Given the description of an element on the screen output the (x, y) to click on. 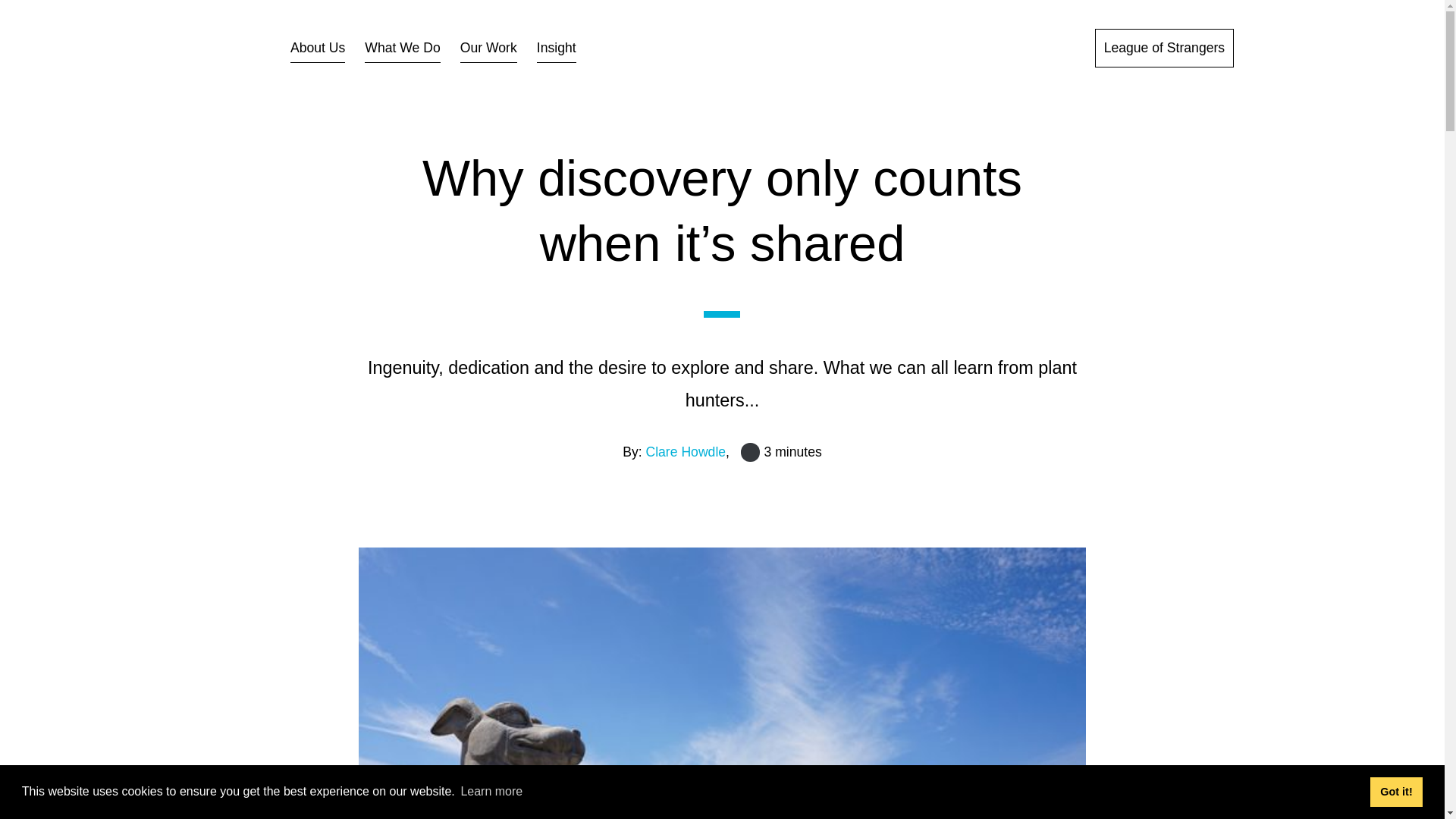
Our Work (488, 48)
Insight (556, 48)
What We Do (402, 48)
Clare Howdle (685, 451)
Got it! (1396, 791)
League of Strangers (1163, 47)
About Us (317, 48)
Learn more (491, 791)
